Given the description of an element on the screen output the (x, y) to click on. 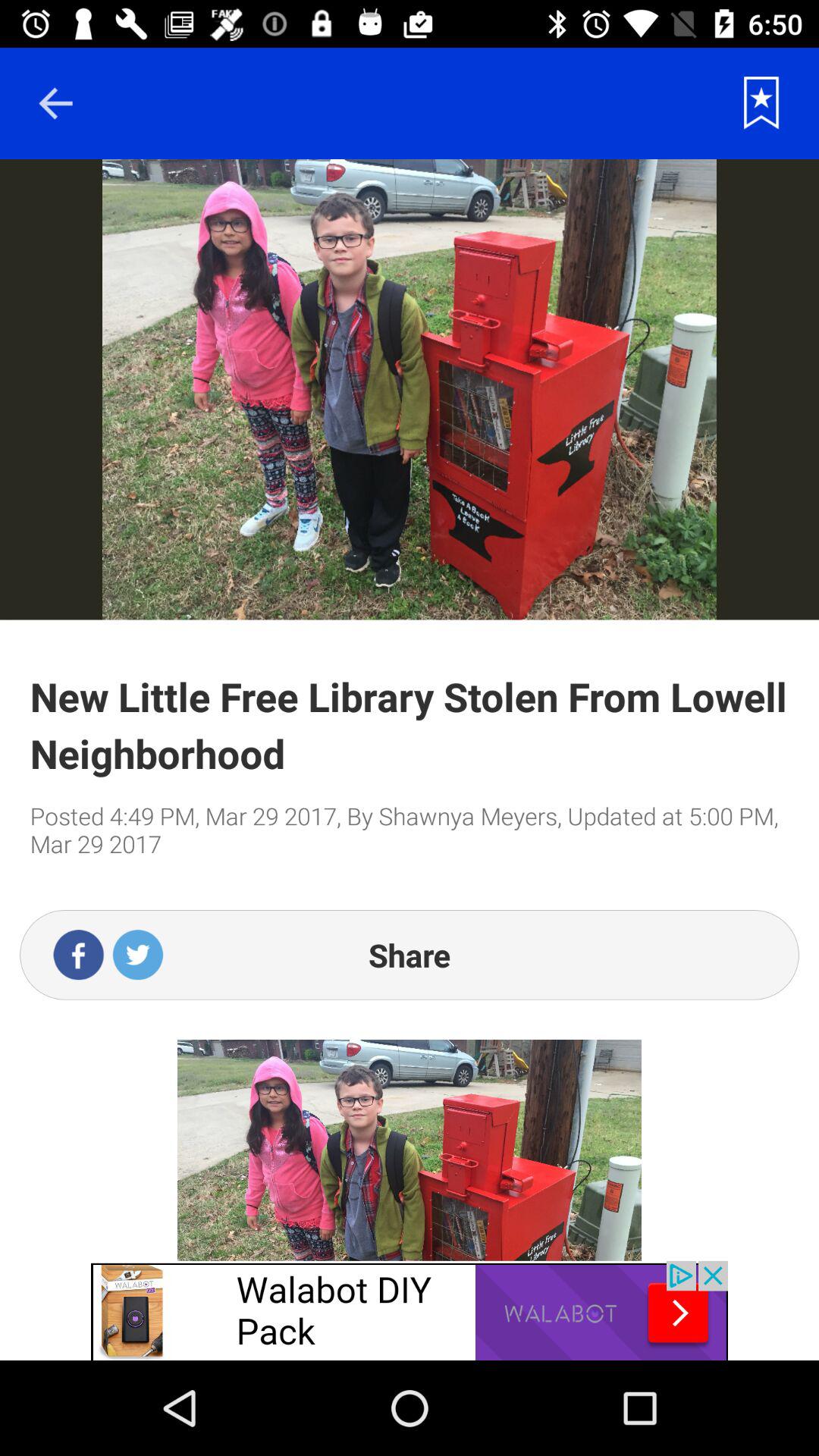
click to save list (761, 102)
